Given the description of an element on the screen output the (x, y) to click on. 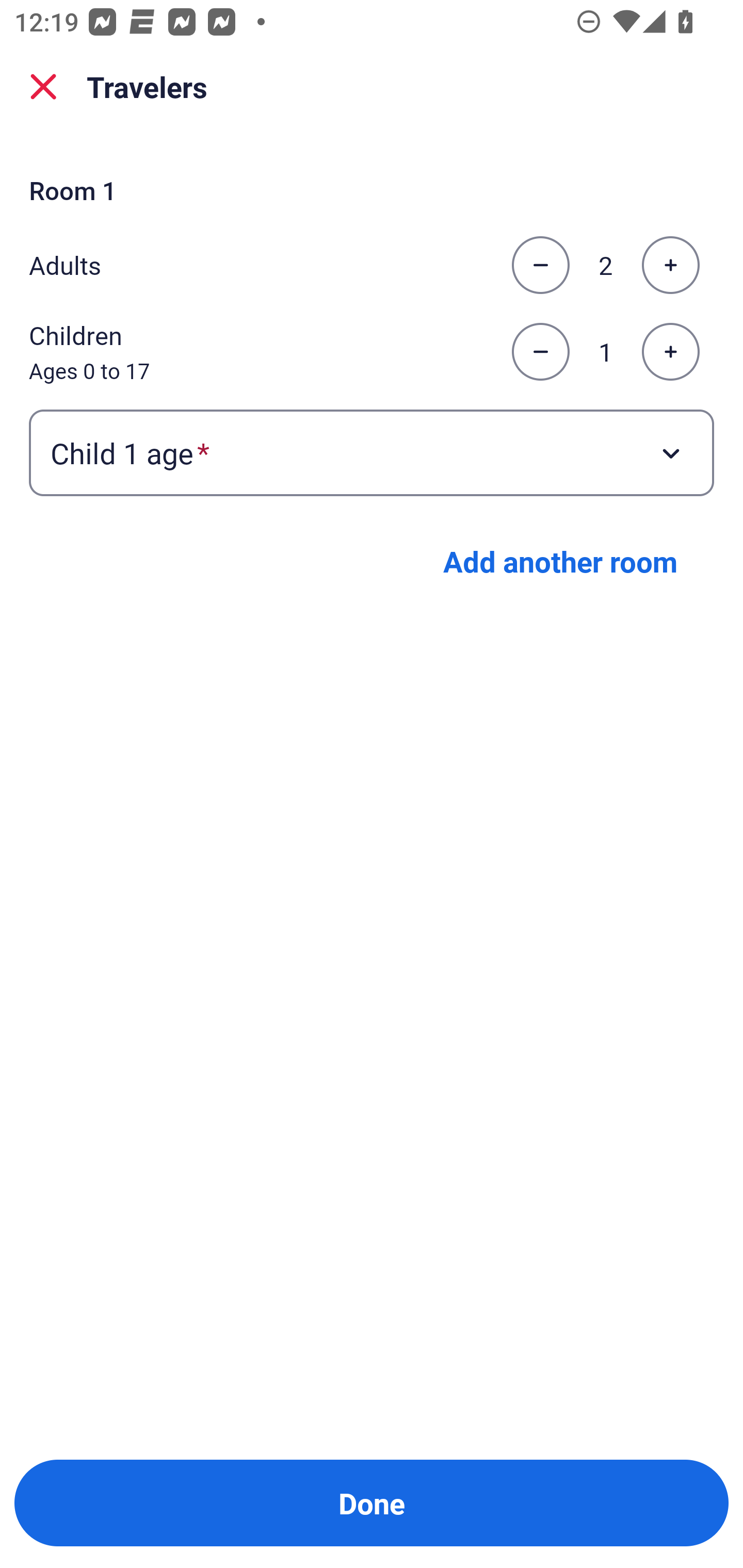
close (43, 86)
Decrease the number of adults (540, 264)
Increase the number of adults (670, 264)
Decrease the number of children (540, 351)
Increase the number of children (670, 351)
Child 1 age required Button (371, 452)
Add another room (560, 561)
Done (371, 1502)
